Given the description of an element on the screen output the (x, y) to click on. 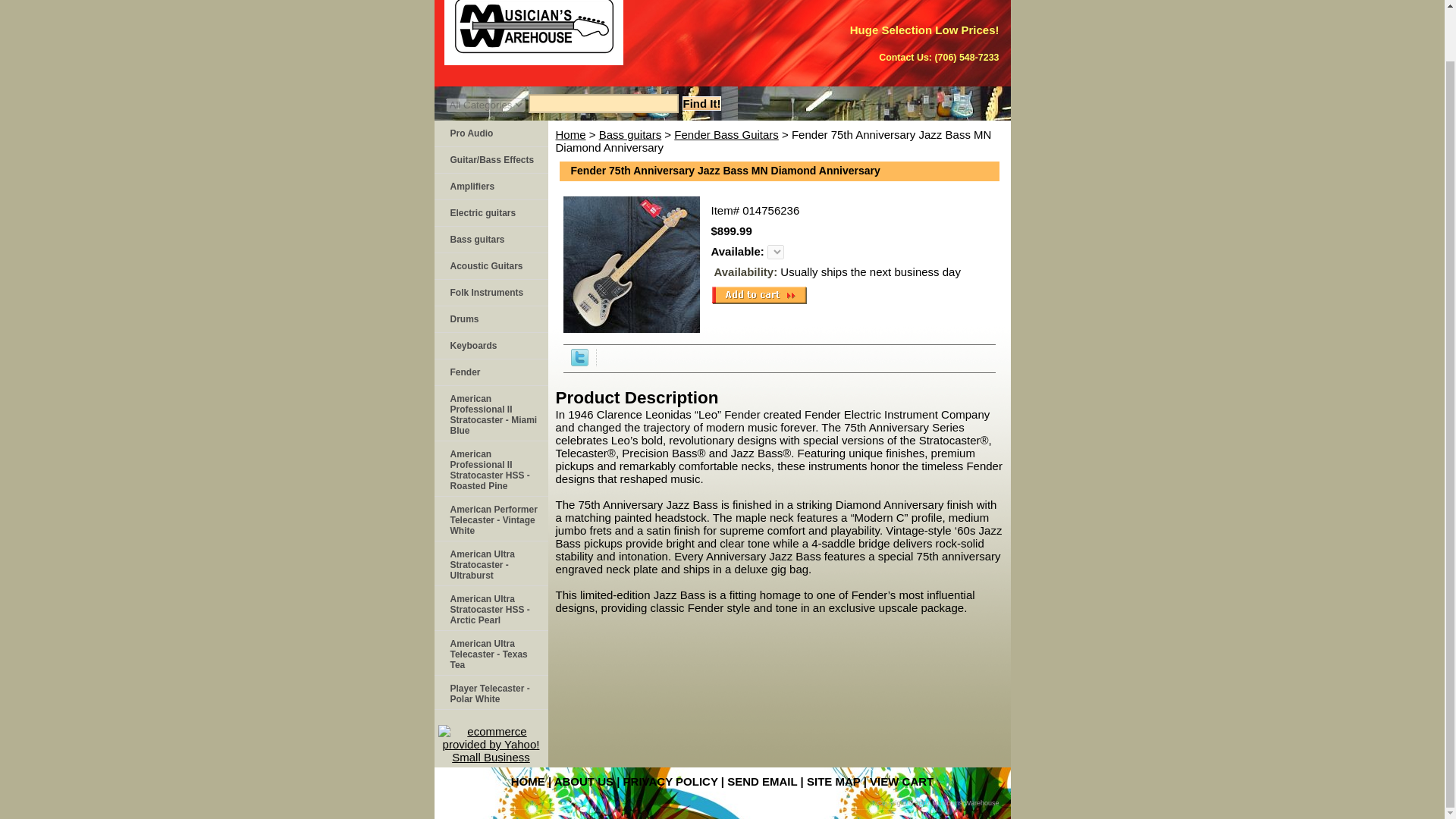
American Ultra Stratocaster - Ultraburst (490, 563)
Bass guitars (490, 239)
American Professional II Stratocaster - Miami Blue (490, 413)
Pro Audio (490, 133)
Keyboards (490, 345)
Fender Bass Guitars (726, 133)
Amplifiers (490, 186)
American Ultra Telecaster - Texas Tea (490, 652)
Acoustic Guitars (490, 266)
Fender (490, 372)
American Ultra Stratocaster HSS - Arctic Pearl (490, 608)
SEND EMAIL (761, 780)
Electric guitars (490, 212)
Fender (490, 372)
American Performer Telecaster - Vintage White (490, 518)
